Given the description of an element on the screen output the (x, y) to click on. 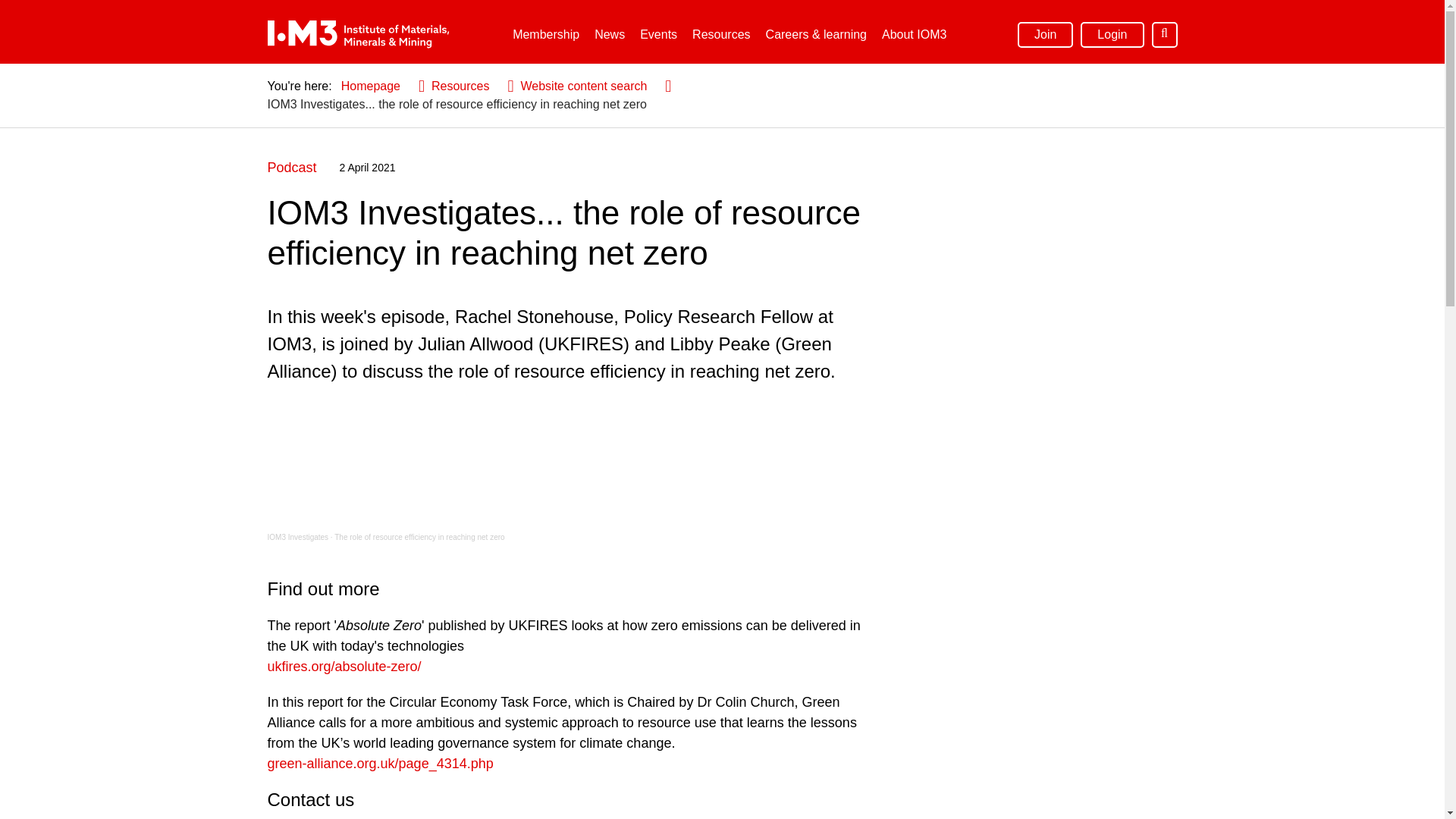
IOM3 Investigates (297, 537)
News (609, 34)
The role of resource efficiency in reaching net zero (418, 537)
Resources (721, 34)
Join (1045, 33)
Login (1111, 33)
Membership (545, 34)
Events (658, 34)
